Given the description of an element on the screen output the (x, y) to click on. 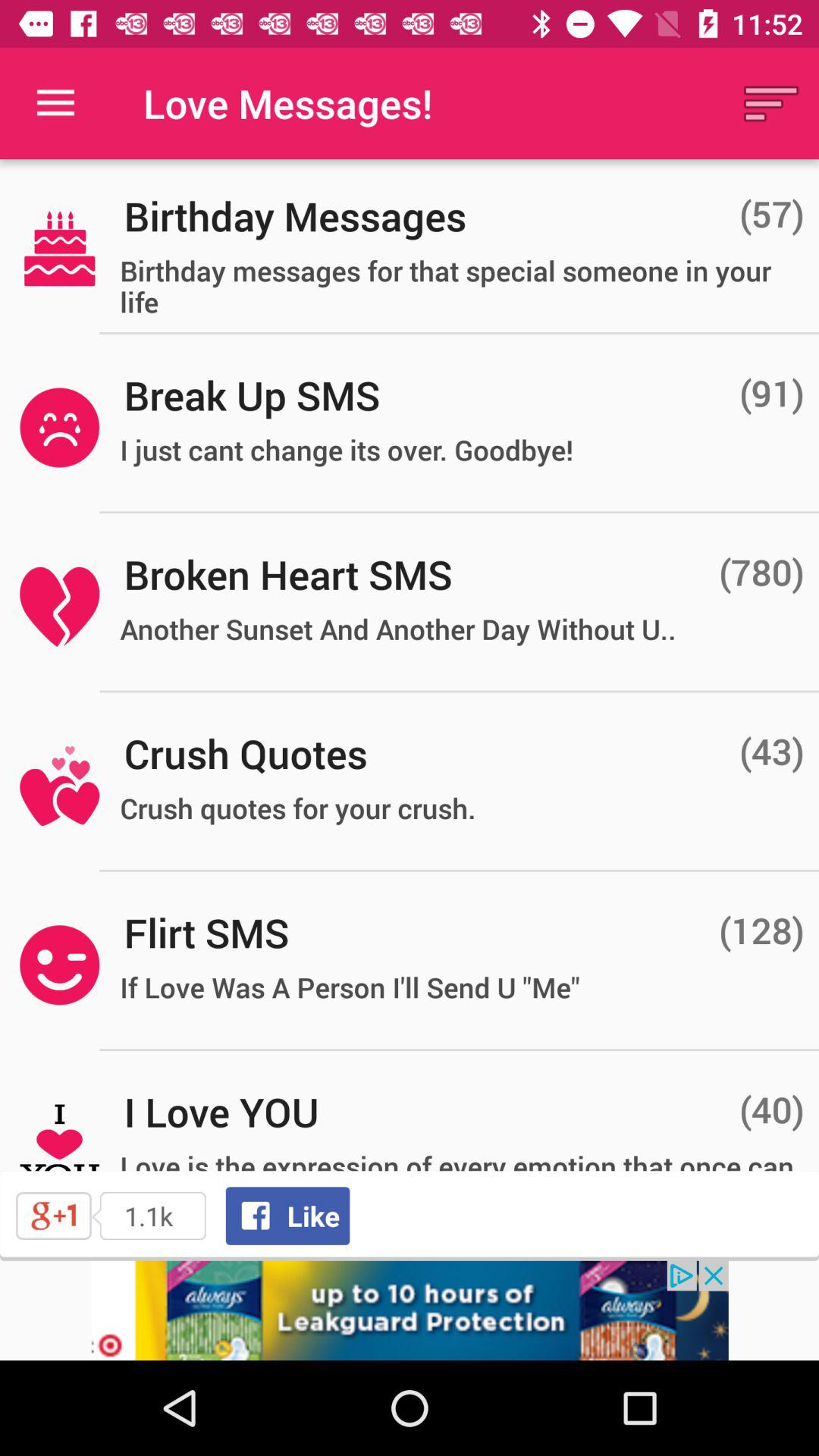
open advertisement (409, 1310)
